Given the description of an element on the screen output the (x, y) to click on. 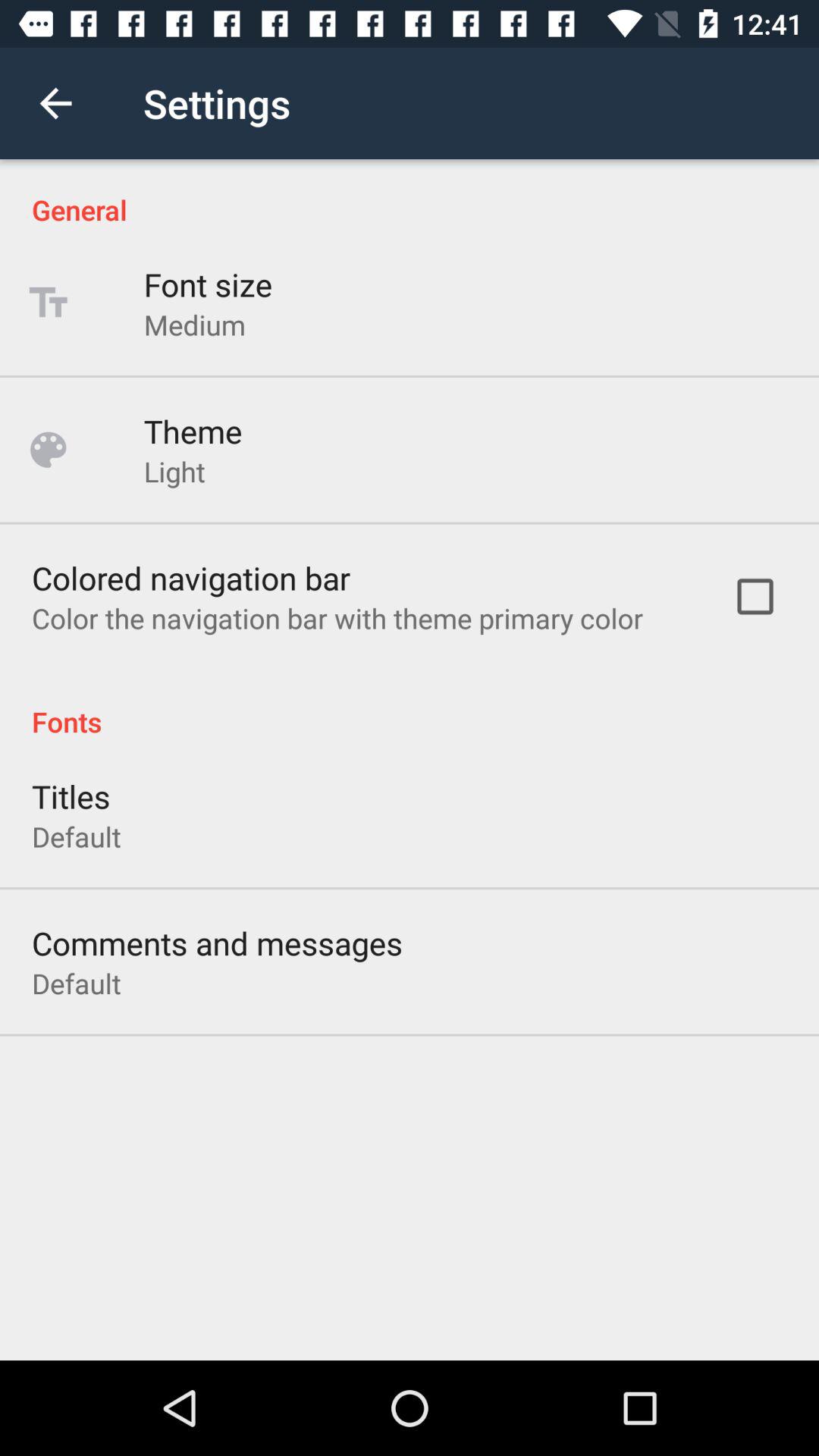
launch the item on the right (755, 596)
